Given the description of an element on the screen output the (x, y) to click on. 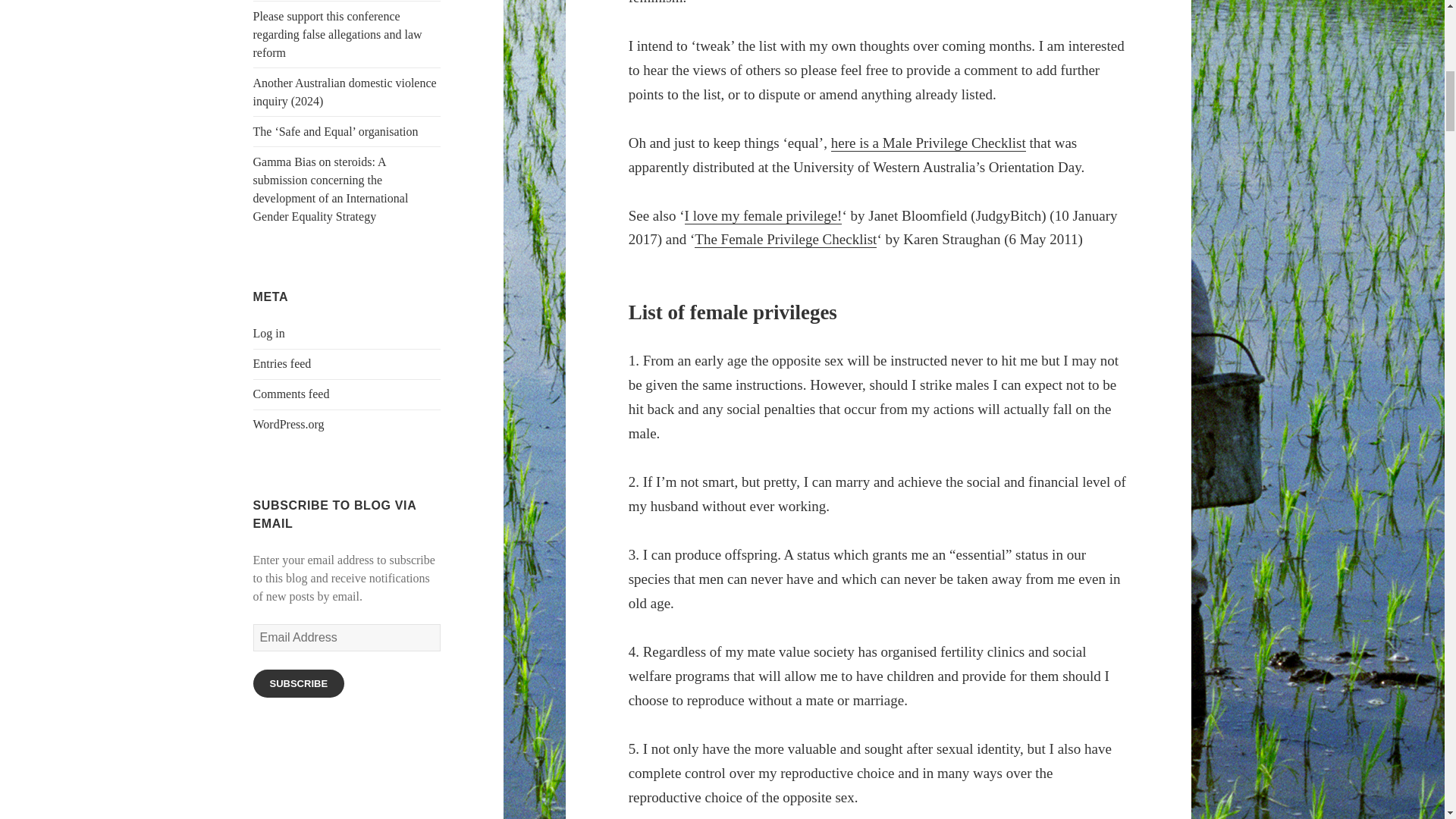
WordPress.org (288, 423)
Entries feed (282, 363)
Log in (269, 332)
The Female Privilege Checklist (785, 239)
I love my female privilege! (763, 216)
Comments feed (291, 393)
here is a Male Privilege Checklist (928, 143)
SUBSCRIBE (299, 683)
